Given the description of an element on the screen output the (x, y) to click on. 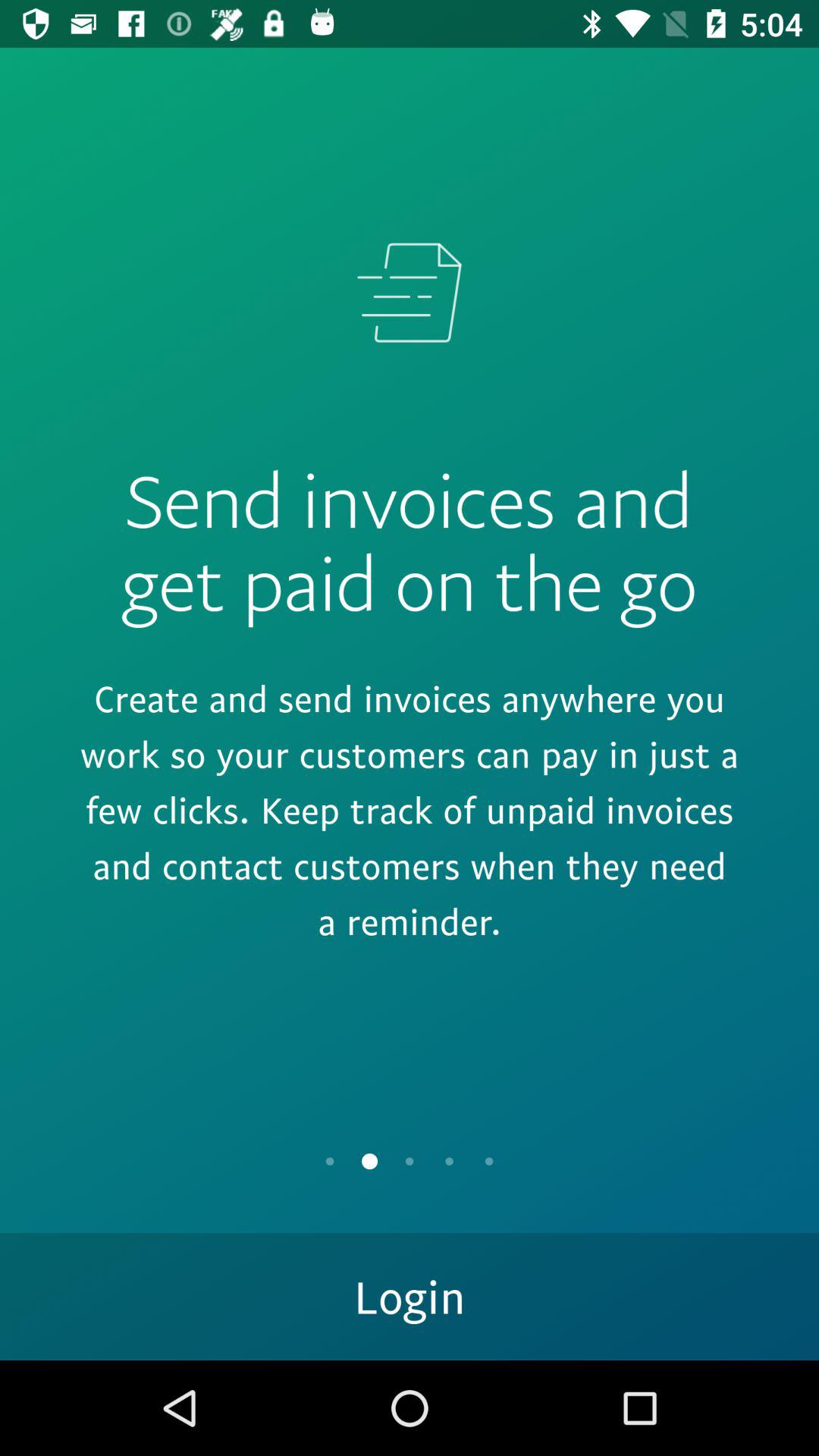
jump to login icon (409, 1296)
